Given the description of an element on the screen output the (x, y) to click on. 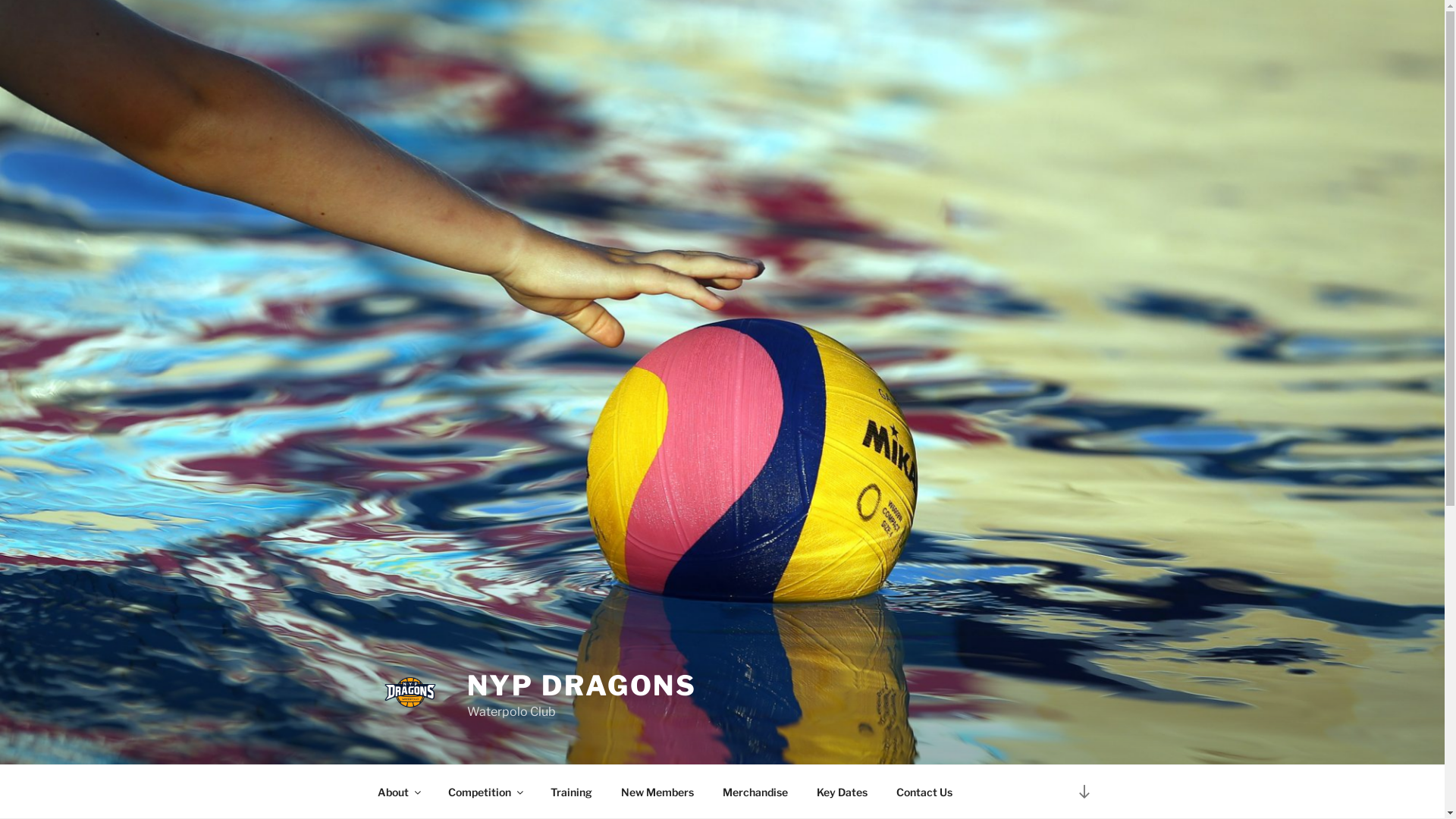
NYP DRAGONS Element type: text (582, 685)
Scroll down to content Element type: text (1083, 790)
Contact Us Element type: text (923, 791)
Skip to content Element type: text (0, 0)
Training Element type: text (570, 791)
Competition Element type: text (485, 791)
Key Dates Element type: text (842, 791)
About Element type: text (398, 791)
New Members Element type: text (657, 791)
Merchandise Element type: text (755, 791)
